Given the description of an element on the screen output the (x, y) to click on. 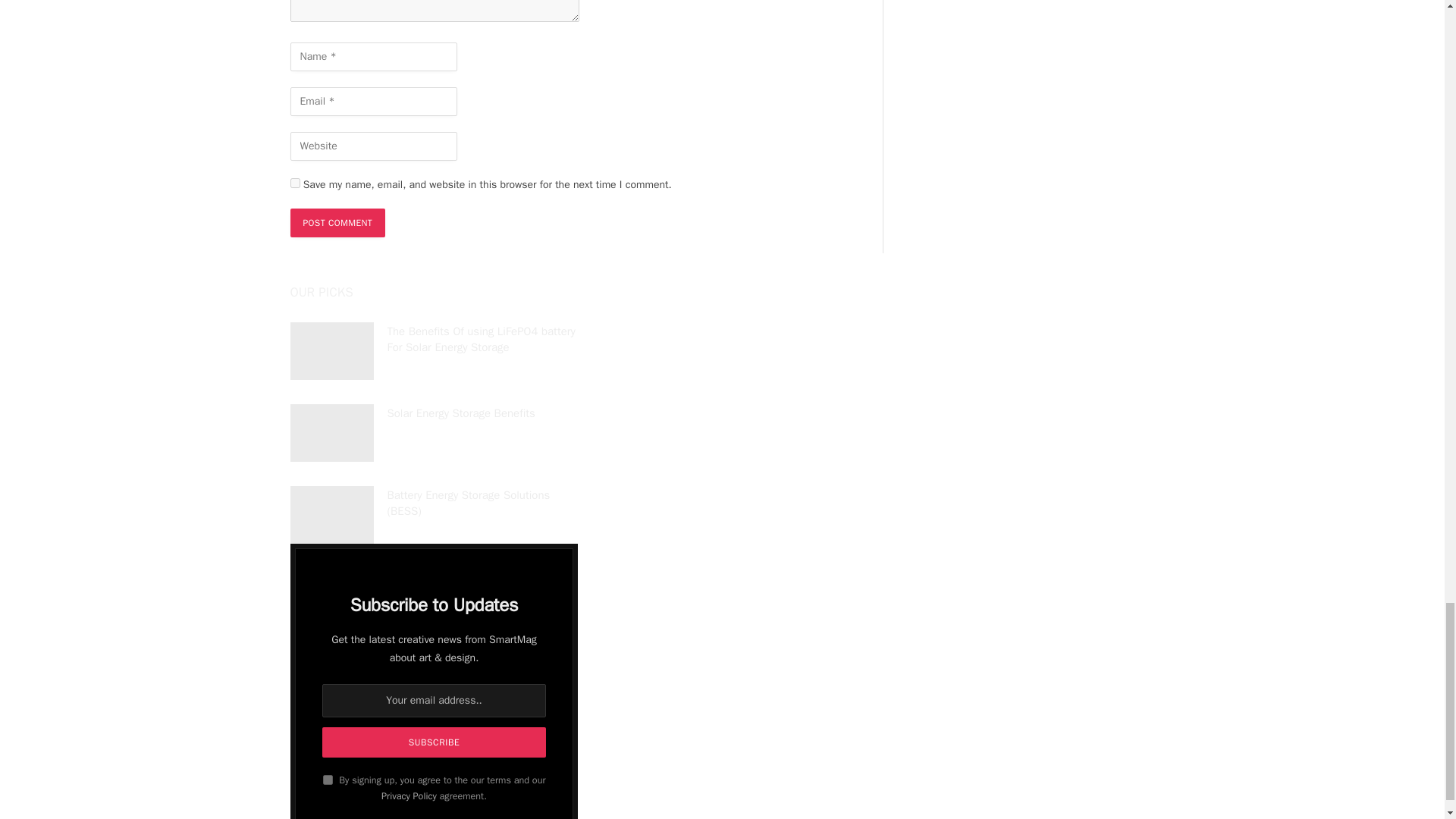
on (328, 779)
Post Comment (337, 222)
yes (294, 183)
Subscribe (432, 742)
